Given the description of an element on the screen output the (x, y) to click on. 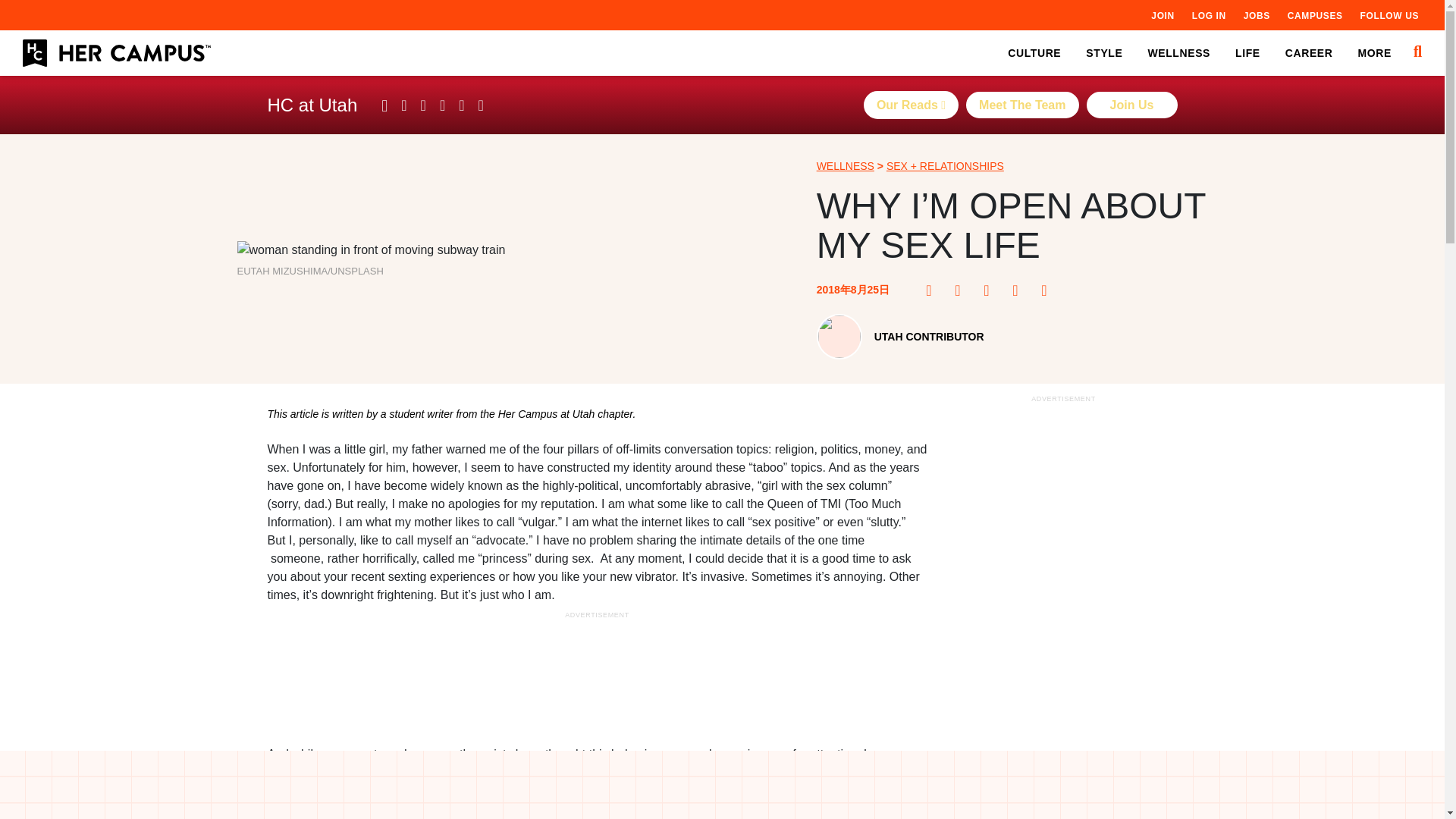
Facebook (933, 289)
JOIN (1162, 15)
LOG IN (1208, 15)
LinkedIn (1019, 289)
Pinterest (962, 289)
JOBS (1256, 15)
Why I'm Open About My Sex Life 1 (370, 249)
Email (1049, 289)
Twitter (991, 289)
CAMPUSES (1314, 15)
